Given the description of an element on the screen output the (x, y) to click on. 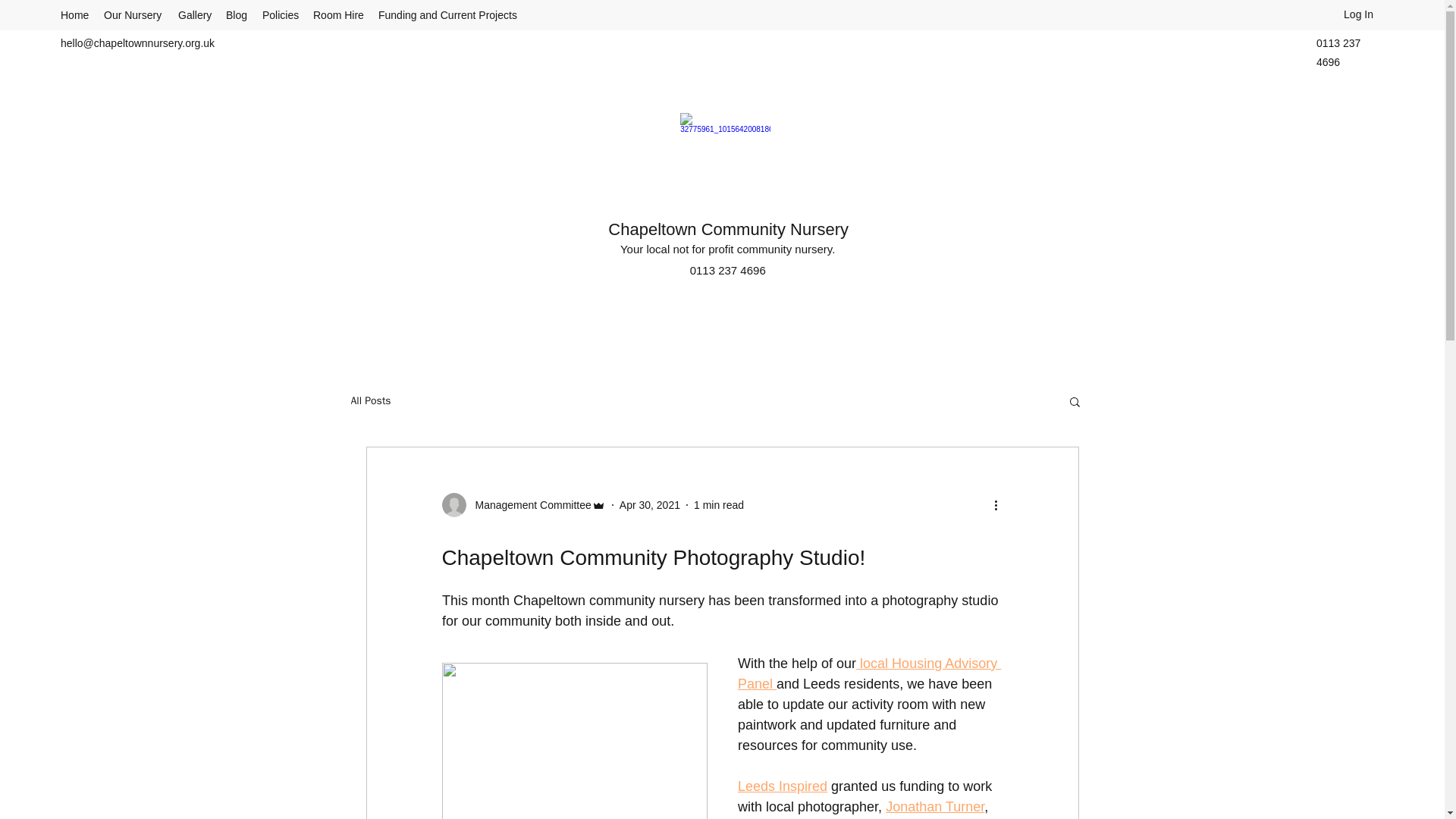
Leeds Inspired (781, 785)
Apr 30, 2021 (649, 504)
Our Nursery (133, 15)
Management Committee (523, 504)
Chapeltown Community Nursery (728, 229)
Funding and Current Projects (447, 15)
Management Committee (528, 505)
Jonathan Turner (934, 806)
 local Housing Advisory Panel  (868, 673)
Log In (1358, 14)
Room Hire (338, 15)
1 min read (719, 504)
Policies (279, 15)
All Posts (370, 400)
Home (74, 15)
